Given the description of an element on the screen output the (x, y) to click on. 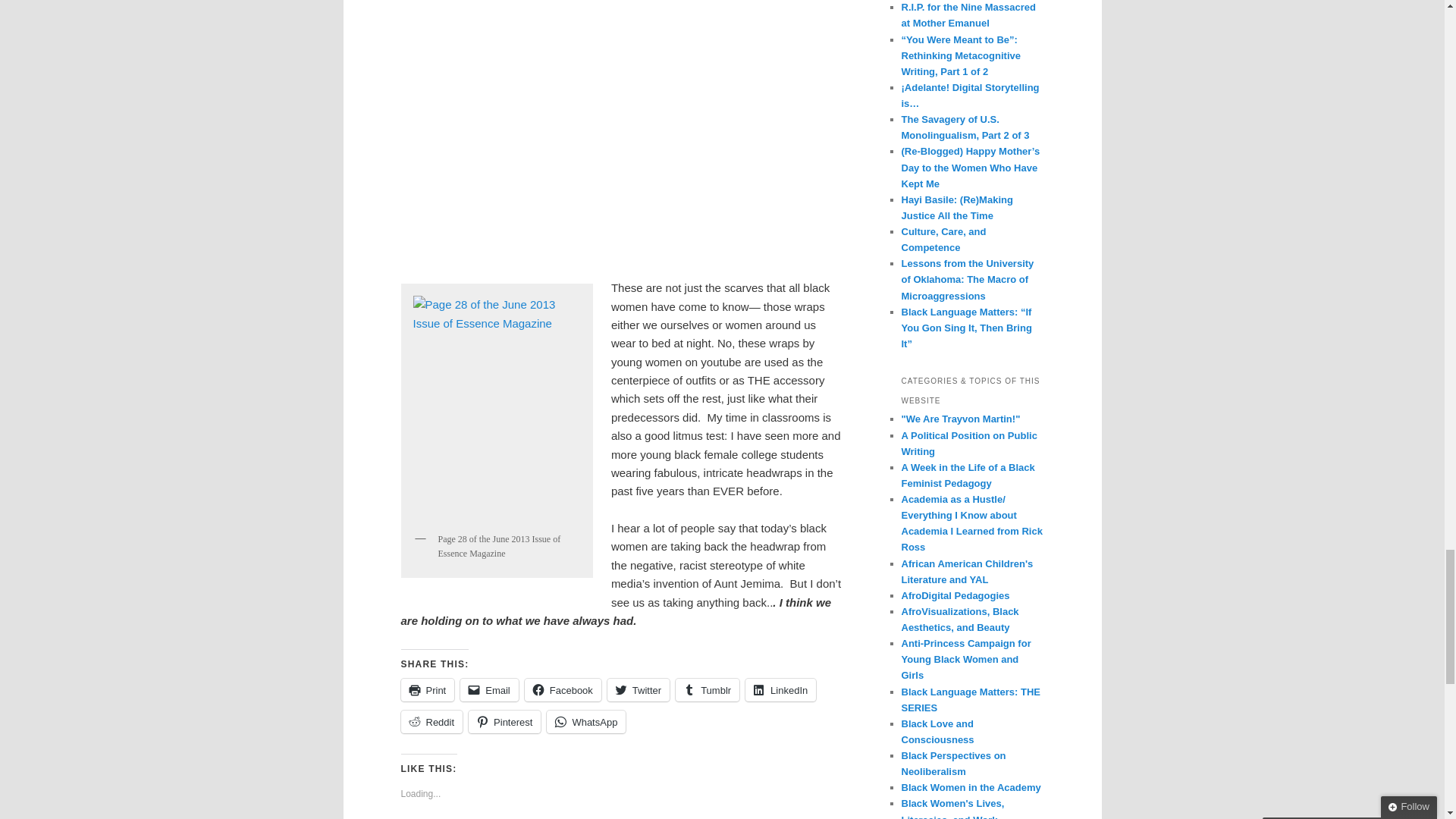
Click to email a link to a friend (489, 689)
Click to share on Tumblr (707, 689)
Twitter (638, 689)
Click to share on LinkedIn (780, 689)
Click to share on Pinterest (504, 721)
Facebook (562, 689)
Click to share on Twitter (638, 689)
Email (489, 689)
Click to print (427, 689)
Click to share on Facebook (562, 689)
